Given the description of an element on the screen output the (x, y) to click on. 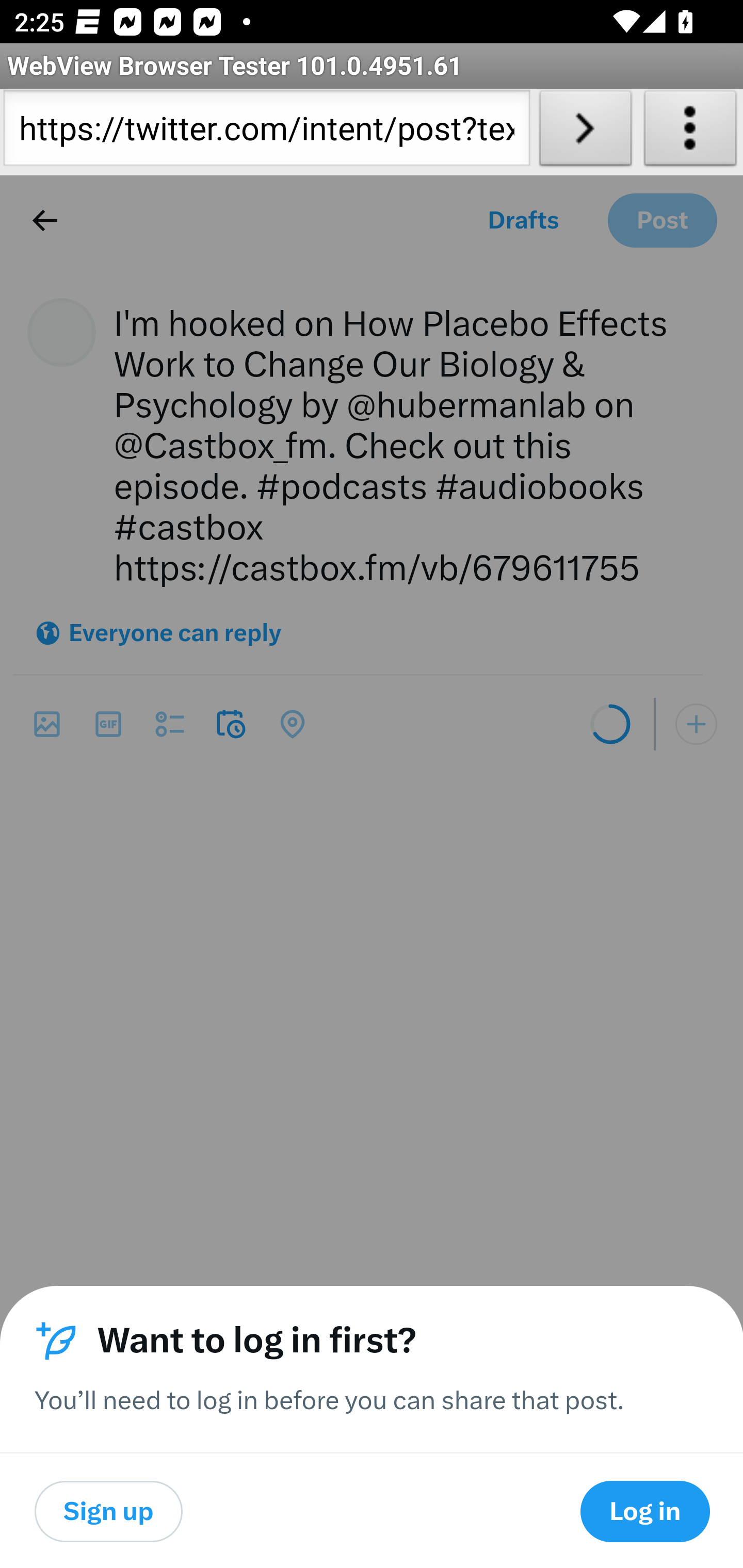
Load URL (585, 132)
About WebView (690, 132)
